Given the description of an element on the screen output the (x, y) to click on. 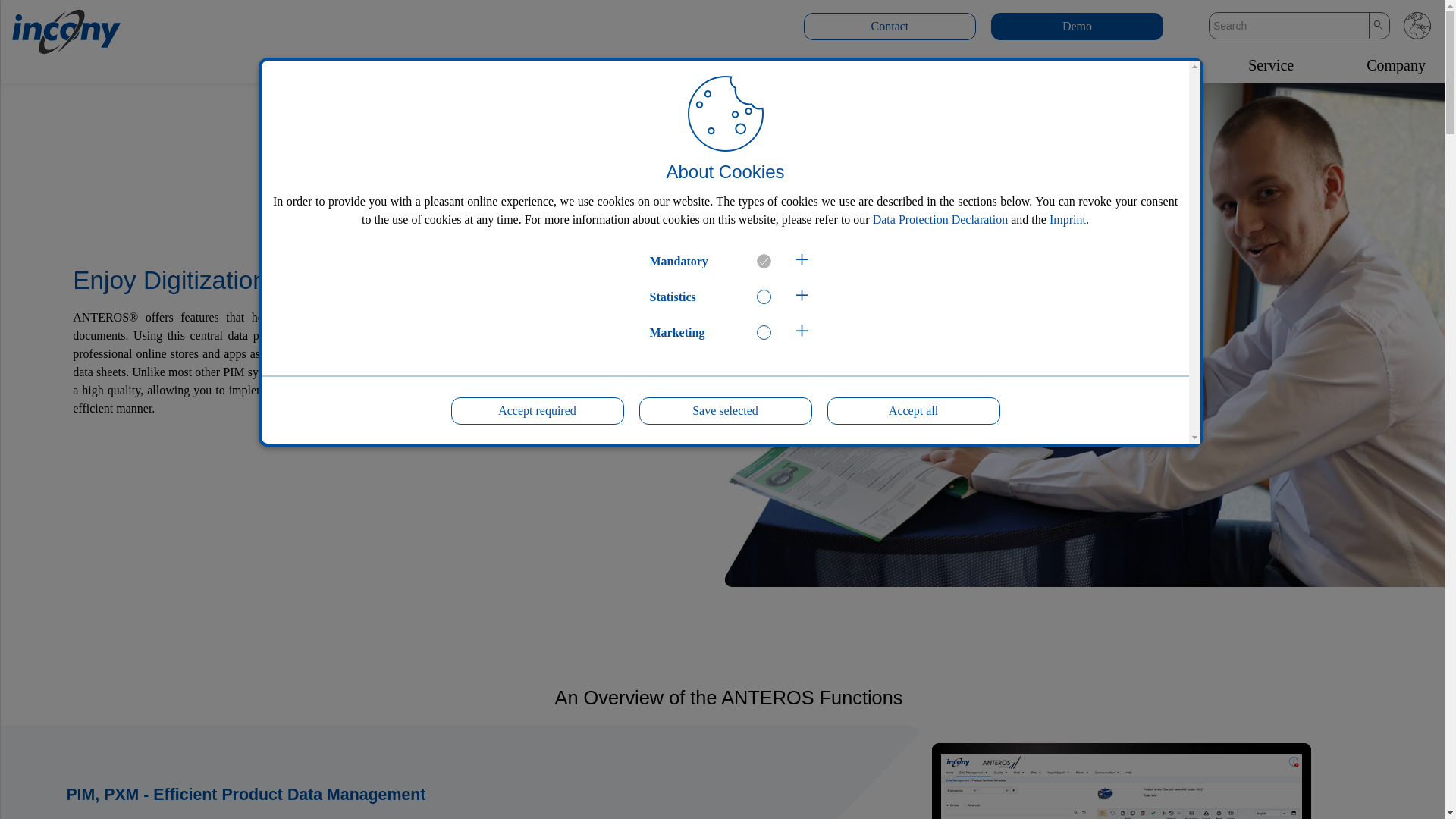
Back to Home (46, 29)
The Advantages of the ANTEROS PIM Software (999, 67)
Contact form (889, 26)
Advantages (999, 67)
Demo (1077, 26)
Back to Home (46, 29)
Request a software demo (1077, 26)
Contact (889, 26)
on (764, 260)
on (764, 332)
Why INCONY? (715, 67)
on (764, 296)
INCONY - Why you Could Profit from Collaboration with us (715, 67)
